Given the description of an element on the screen output the (x, y) to click on. 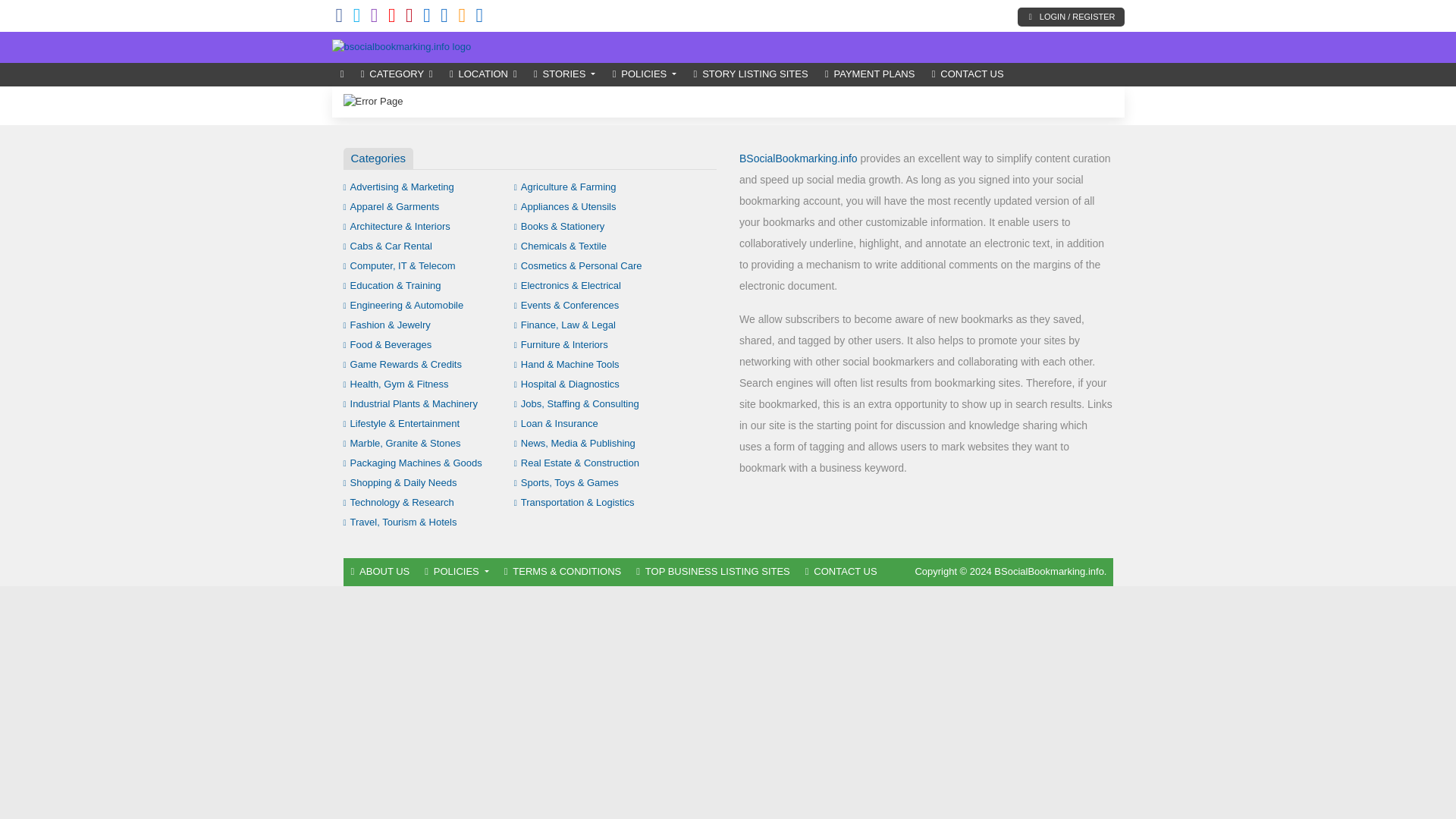
Most Popular Social Bookmarking Site to Boost SEO Content (401, 46)
CATEGORY (396, 74)
